Given the description of an element on the screen output the (x, y) to click on. 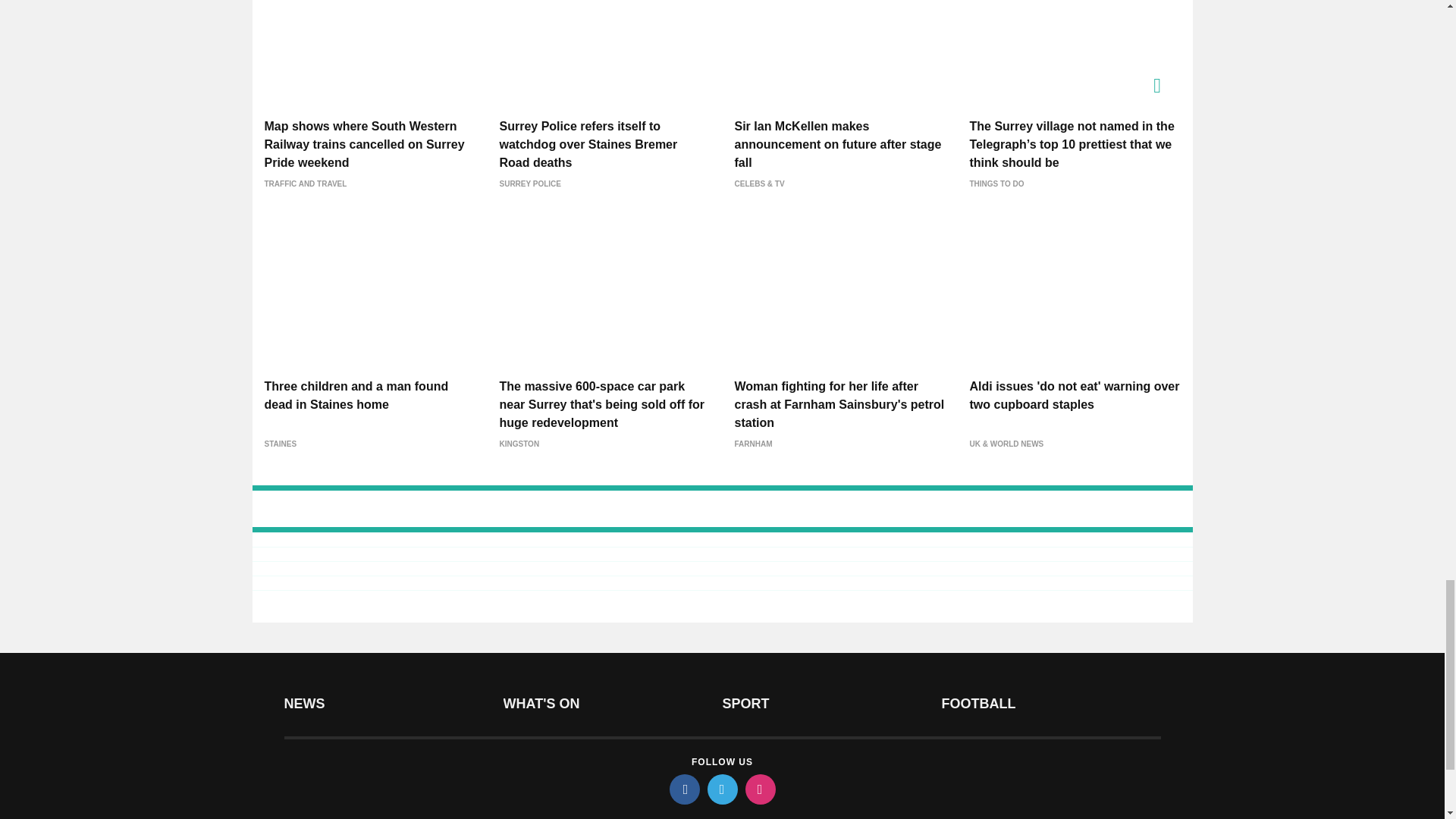
twitter (721, 788)
facebook (683, 788)
instagram (759, 788)
